Given the description of an element on the screen output the (x, y) to click on. 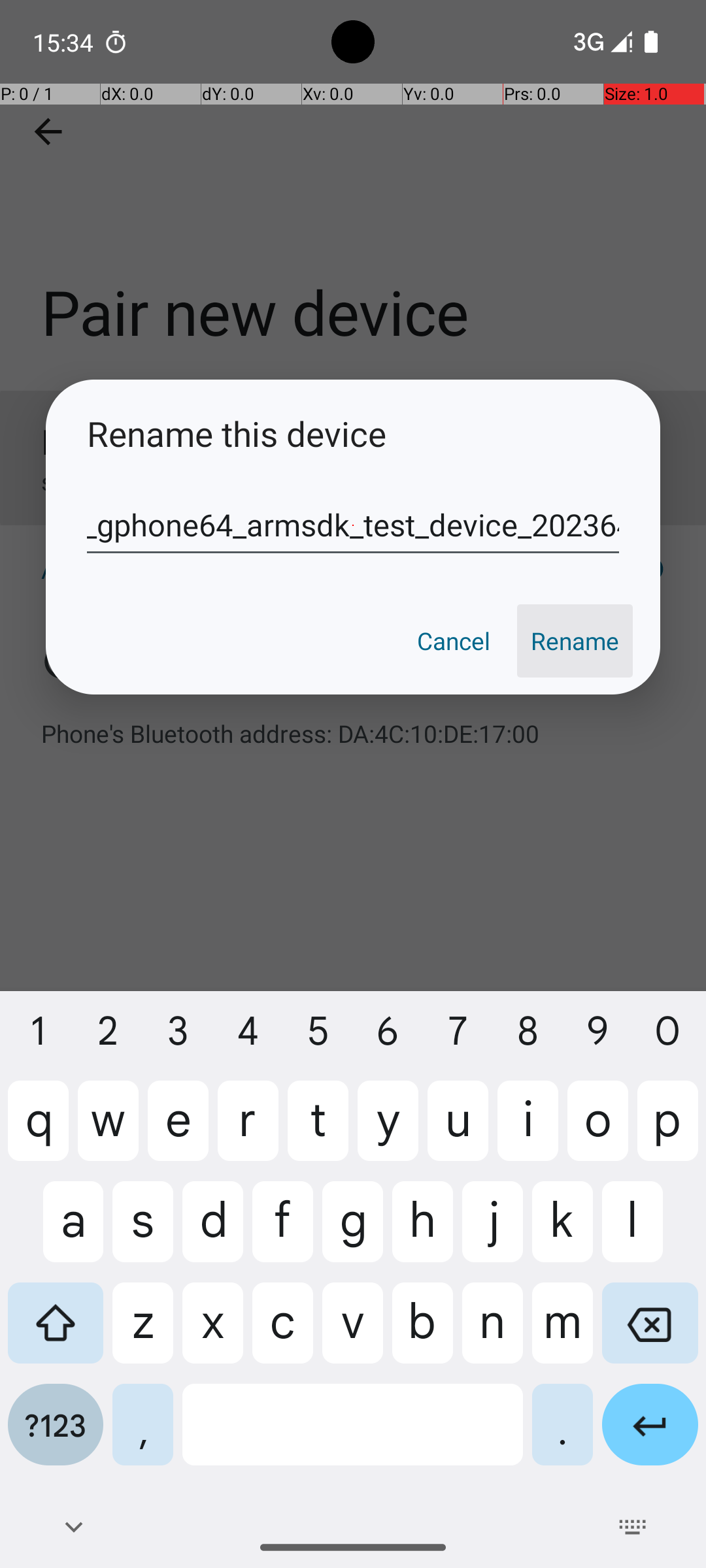
Rename this device Element type: android.widget.TextView (352, 433)
sdk_gphone64_armsdk_test_device_202364 Element type: android.widget.EditText (352, 525)
